Given the description of an element on the screen output the (x, y) to click on. 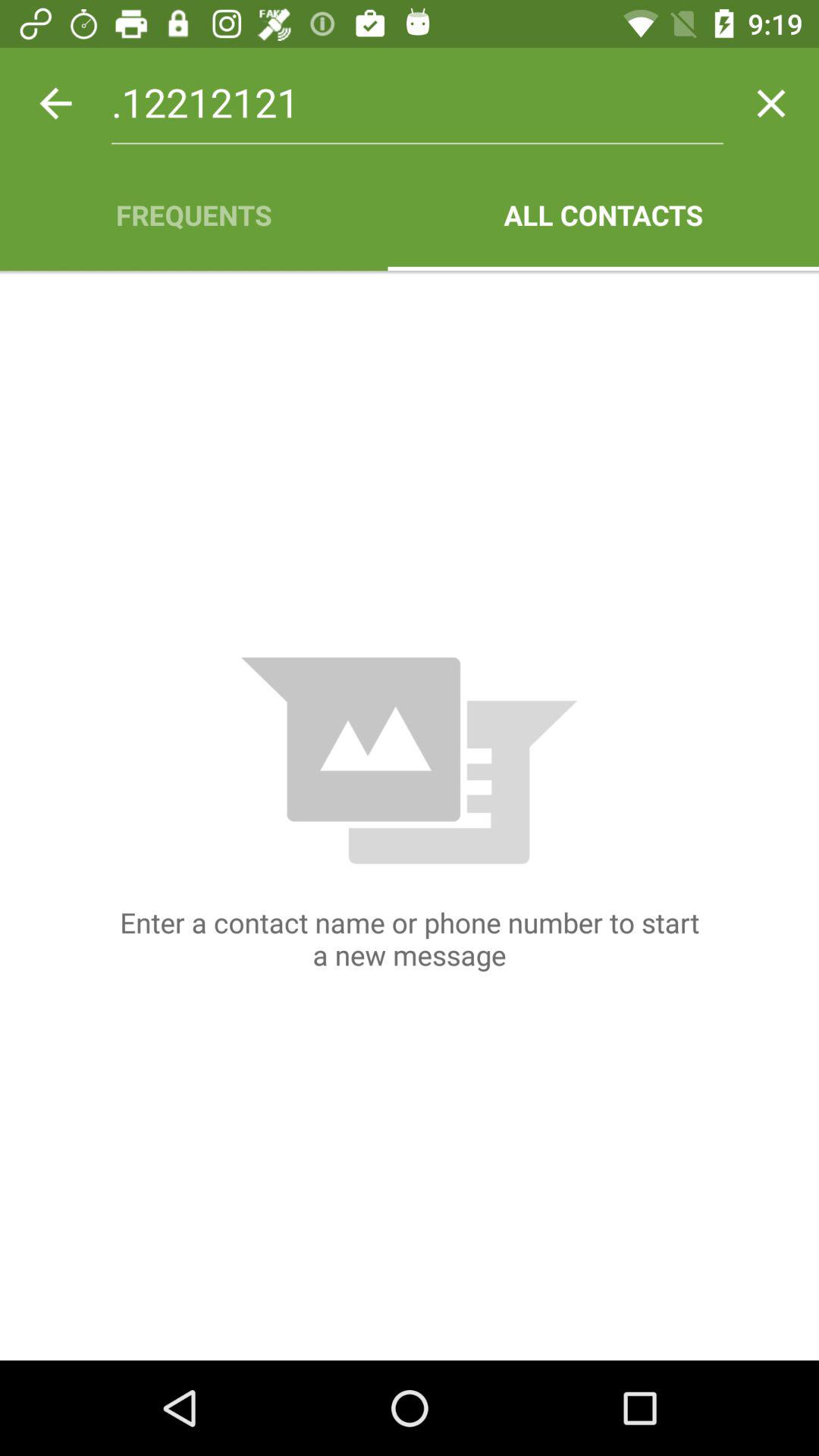
press the icon above frequents (55, 103)
